Given the description of an element on the screen output the (x, y) to click on. 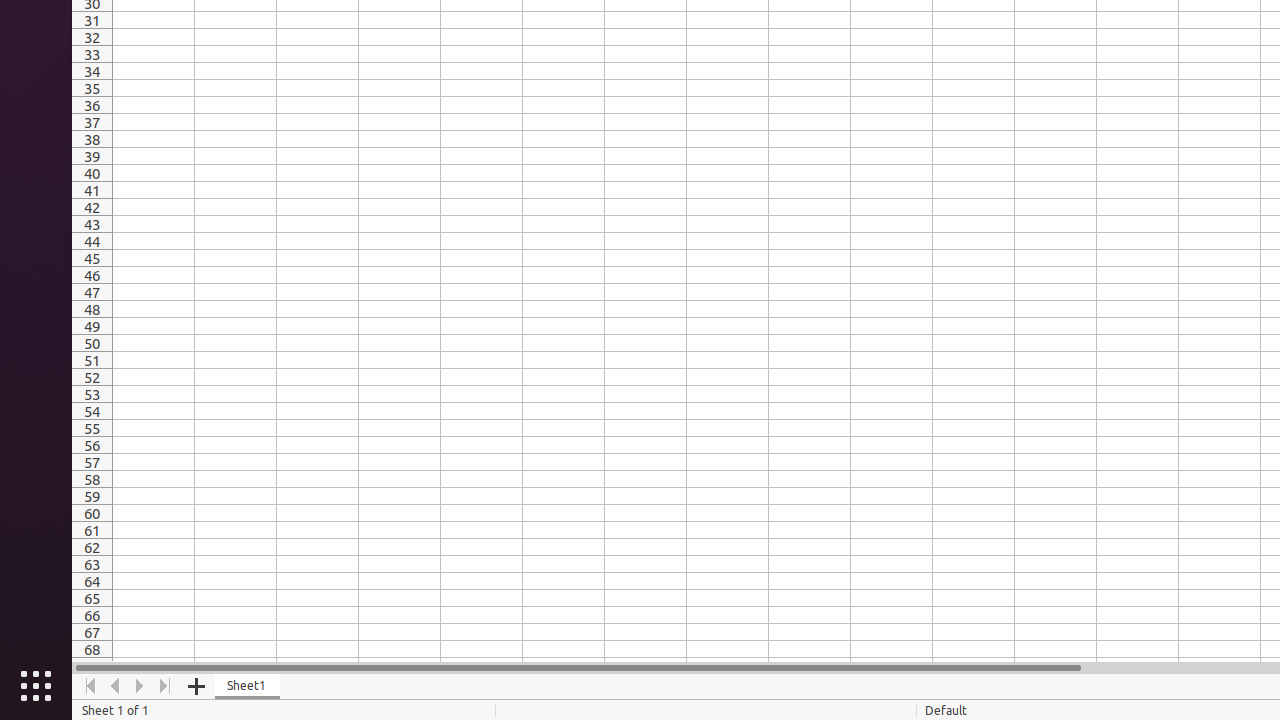
Move Left Element type: push-button (115, 686)
